Given the description of an element on the screen output the (x, y) to click on. 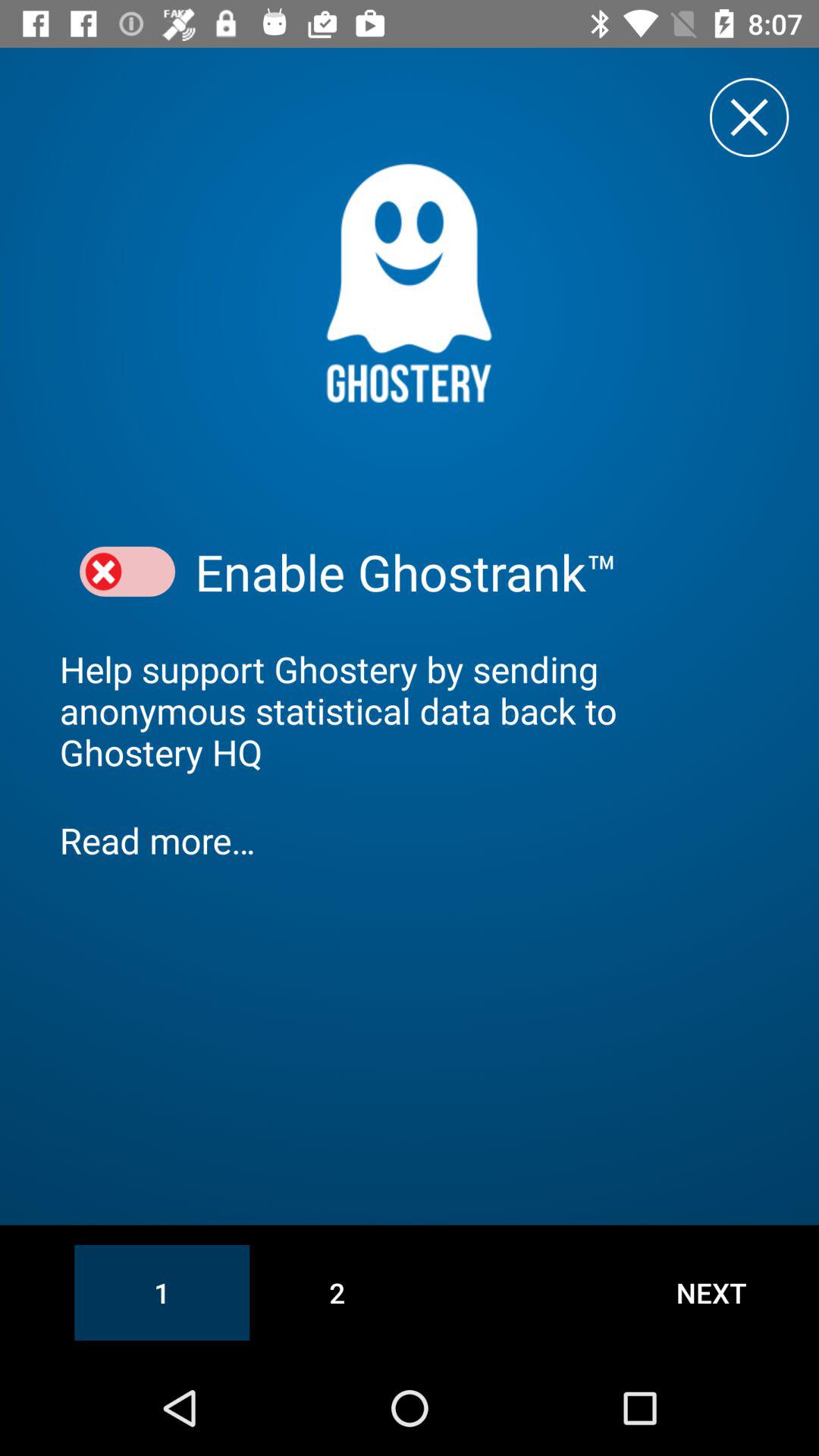
select the item next to the 1 (336, 1292)
